Given the description of an element on the screen output the (x, y) to click on. 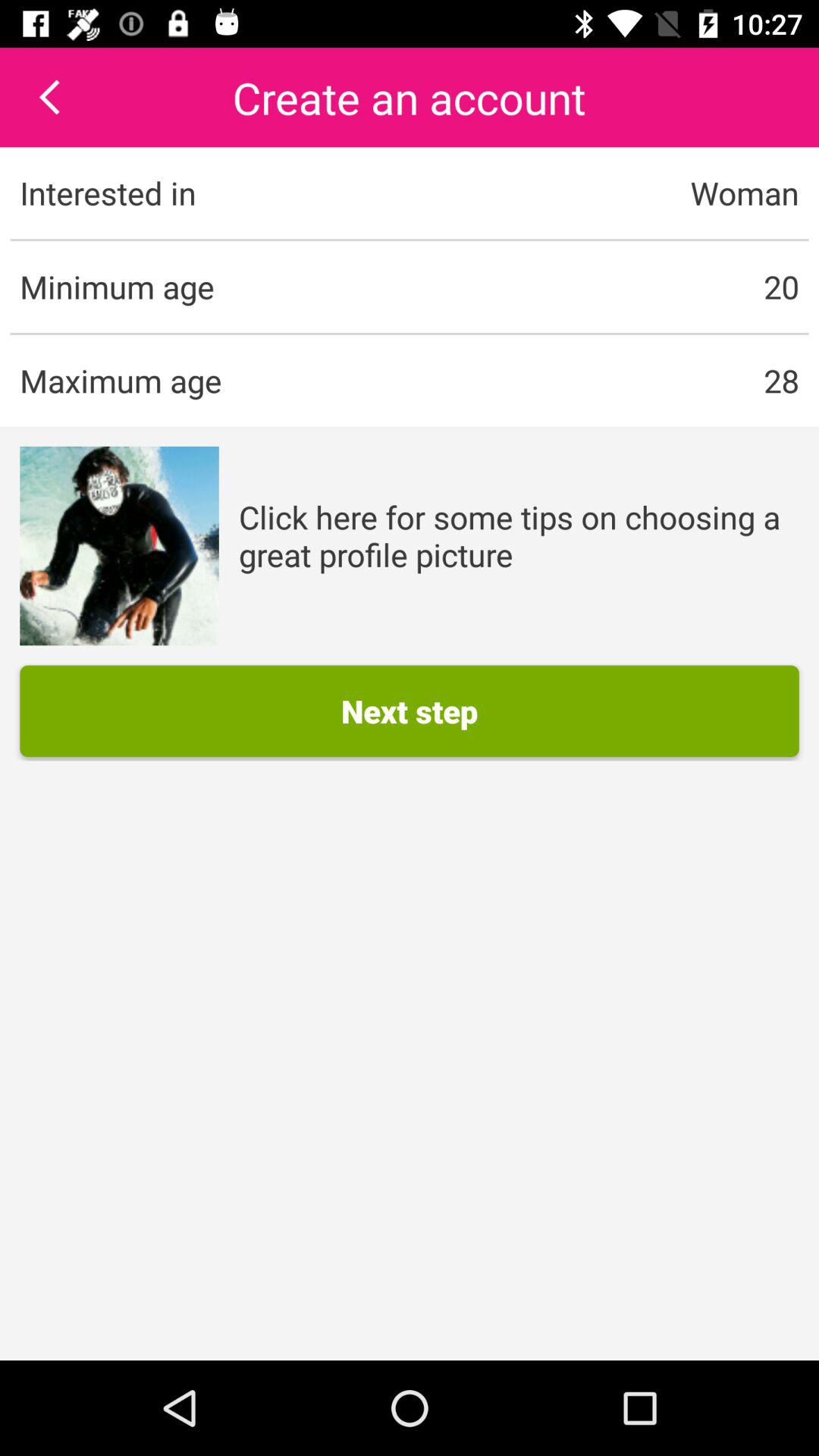
flip to next step icon (409, 711)
